Given the description of an element on the screen output the (x, y) to click on. 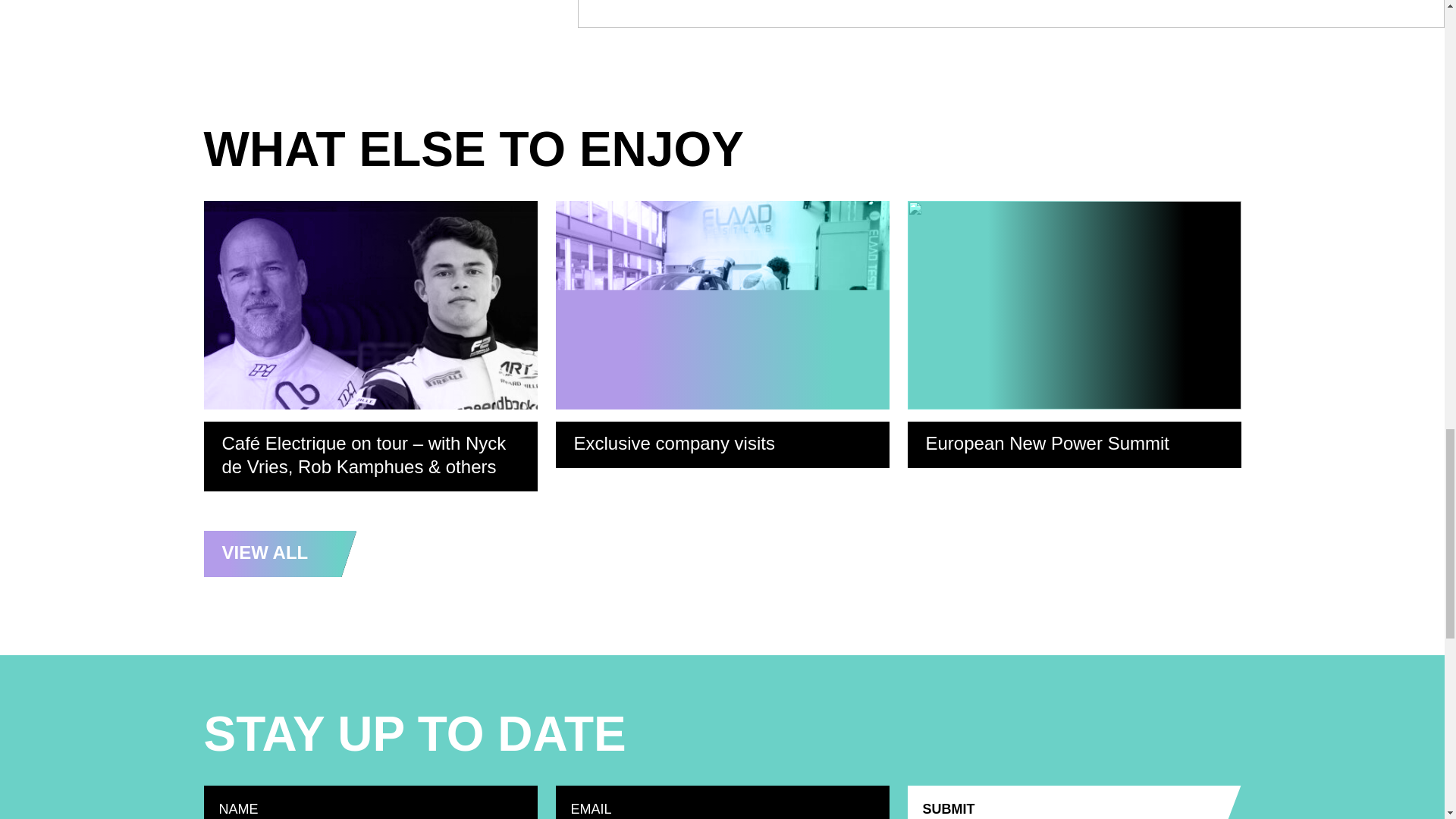
Exclusive company visits (721, 333)
Submit (1073, 802)
VIEW ALL (279, 553)
European New Power Summit (1073, 333)
Submit (1073, 802)
